Given the description of an element on the screen output the (x, y) to click on. 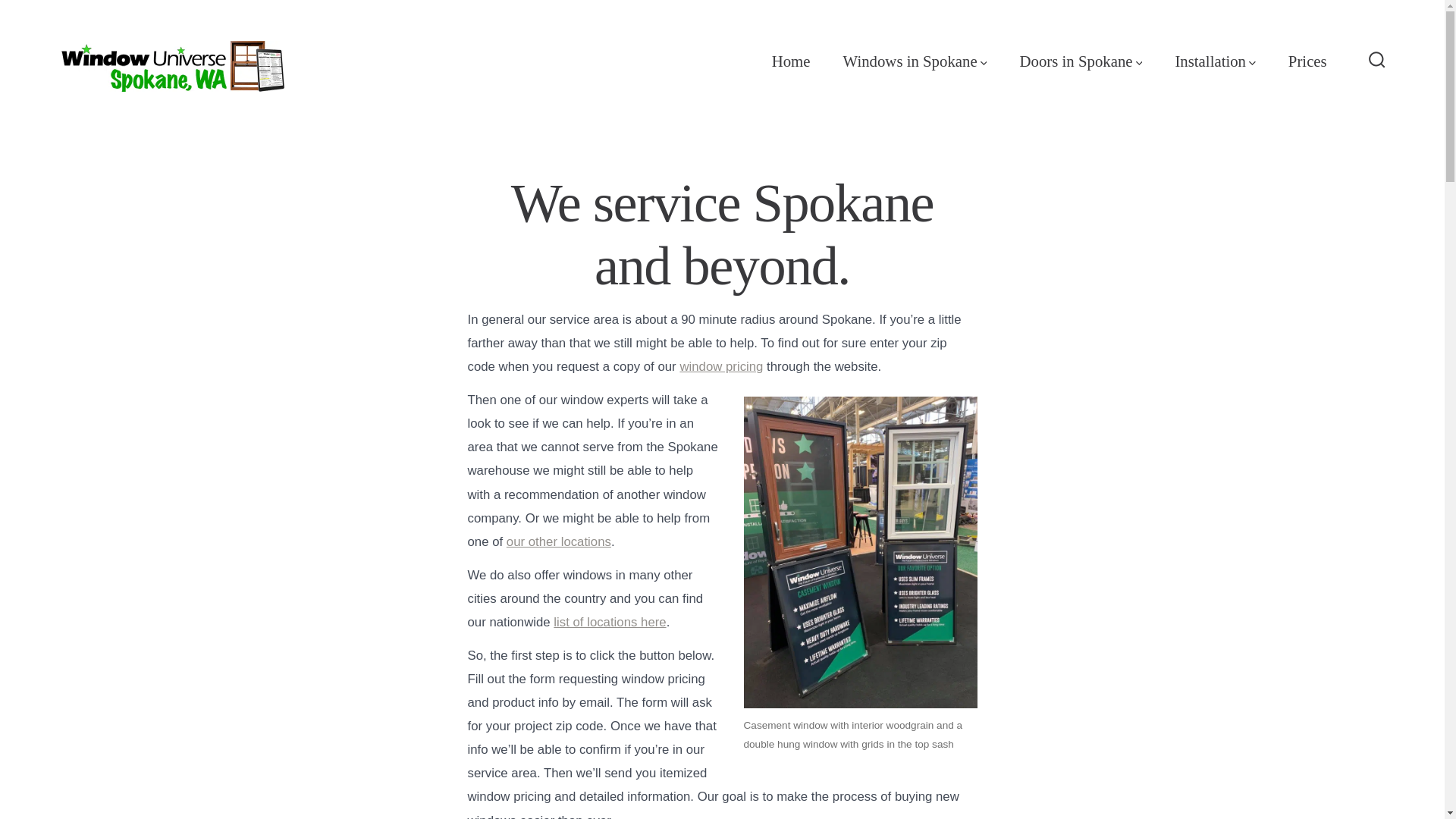
Prices (1307, 61)
window pricing (720, 366)
Windows in Spokane (915, 61)
Search Toggle (1376, 60)
Home (790, 61)
list of locations here (609, 622)
our other locations (558, 541)
Doors in Spokane (1081, 61)
Installation (1214, 61)
